Given the description of an element on the screen output the (x, y) to click on. 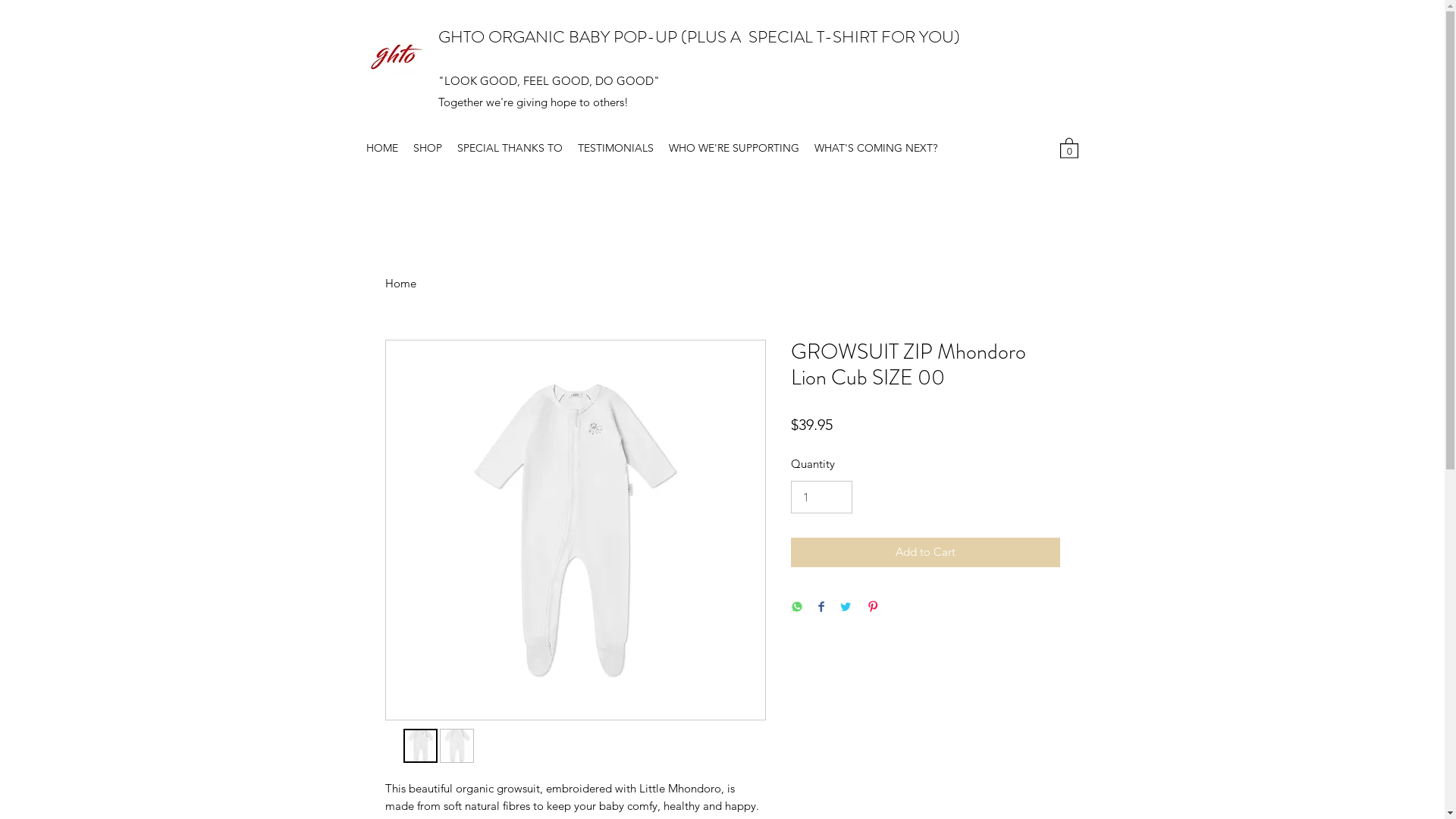
0 Element type: text (1069, 147)
SHOP Element type: text (426, 147)
WHO WE'RE SUPPORTING Element type: text (733, 147)
GHTO ORGANIC BABY POP-UP (PLUS A  SPECIAL T-SHIRT FOR YOU) Element type: text (699, 36)
HOME Element type: text (380, 147)
SPECIAL THANKS TO Element type: text (508, 147)
Home Element type: text (400, 283)
WHAT'S COMING NEXT? Element type: text (875, 147)
TESTIMONIALS Element type: text (615, 147)
Add to Cart Element type: text (924, 552)
